Given the description of an element on the screen output the (x, y) to click on. 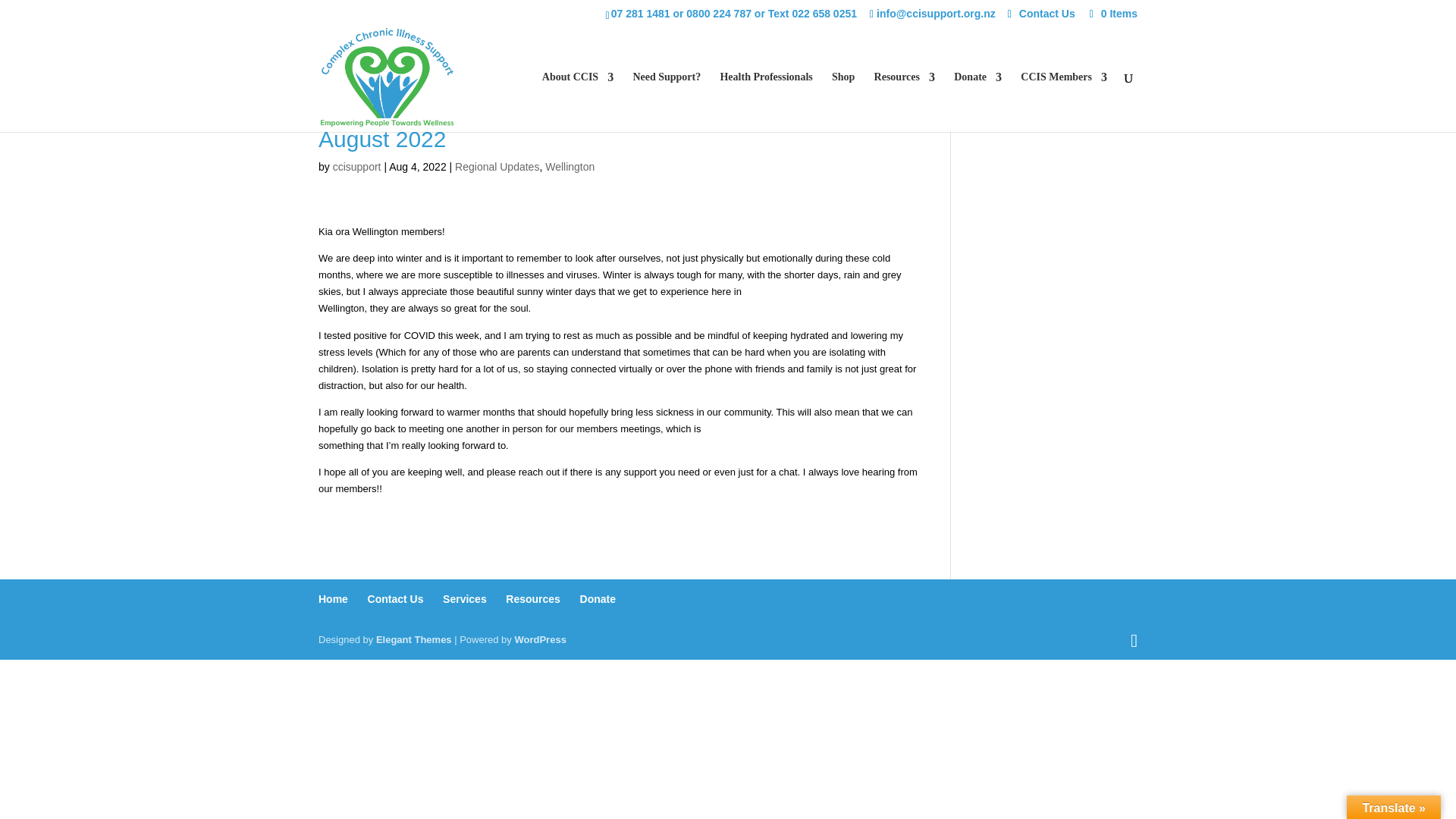
Premium WordPress Themes (413, 639)
0 Items (1111, 13)
Contact Us (1047, 16)
Resources (904, 101)
Posts by ccisupport (357, 166)
ccisupport (357, 166)
CCIS Members (1063, 101)
About CCIS (576, 101)
Need Support? (665, 101)
Regional Updates (496, 166)
Health Professionals (765, 101)
